Given the description of an element on the screen output the (x, y) to click on. 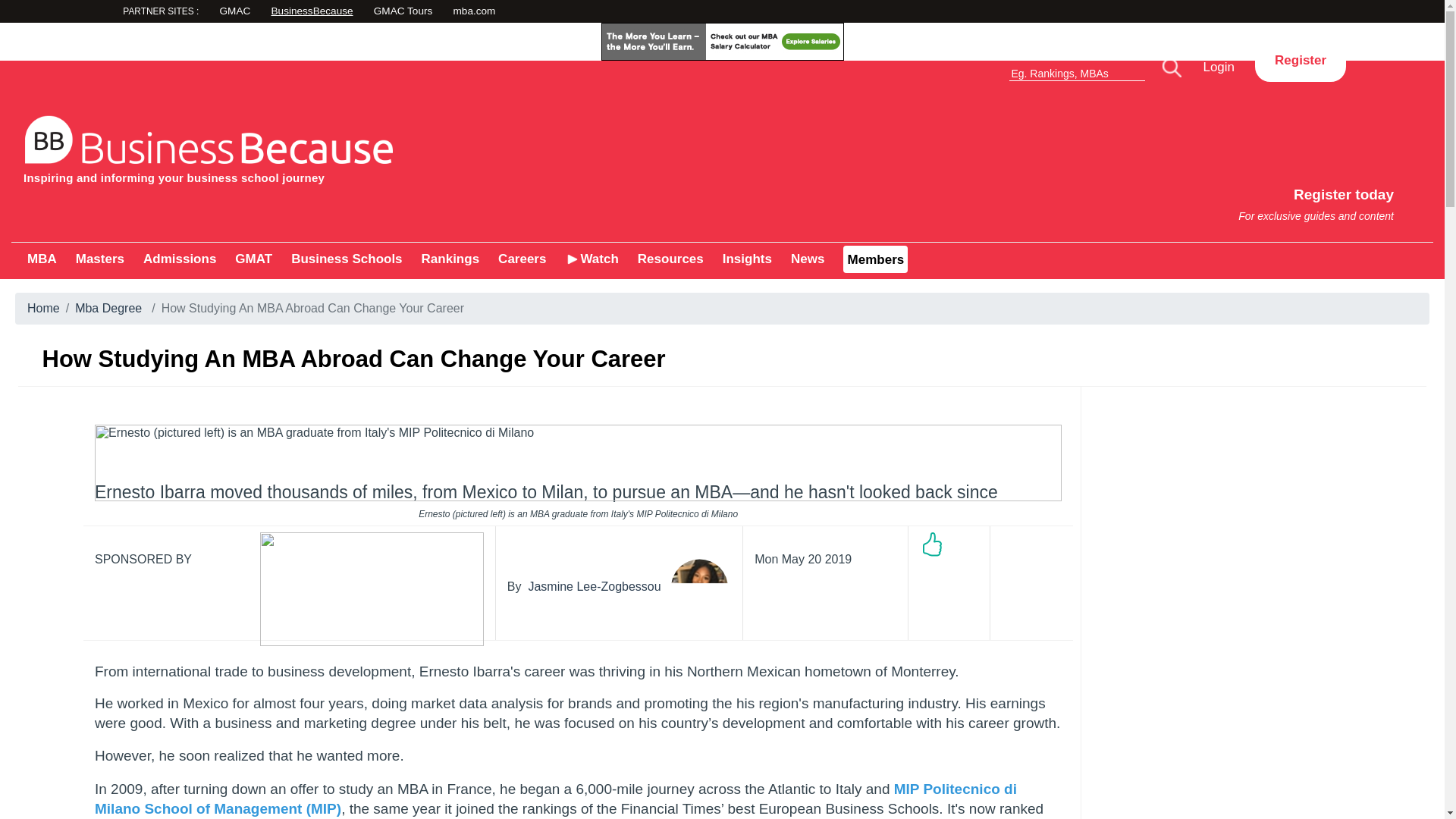
GMAC Tours (474, 12)
PARTNER SITES : (189, 12)
GMAT (253, 258)
Business Schools (346, 258)
Headshot of Jasmine Lee-Zogbessou (699, 586)
3rd party ad content (1089, 197)
Inspiring and informing your business school journey (721, 41)
BusinessBecause (367, 145)
3rd party ad content (367, 12)
